Given the description of an element on the screen output the (x, y) to click on. 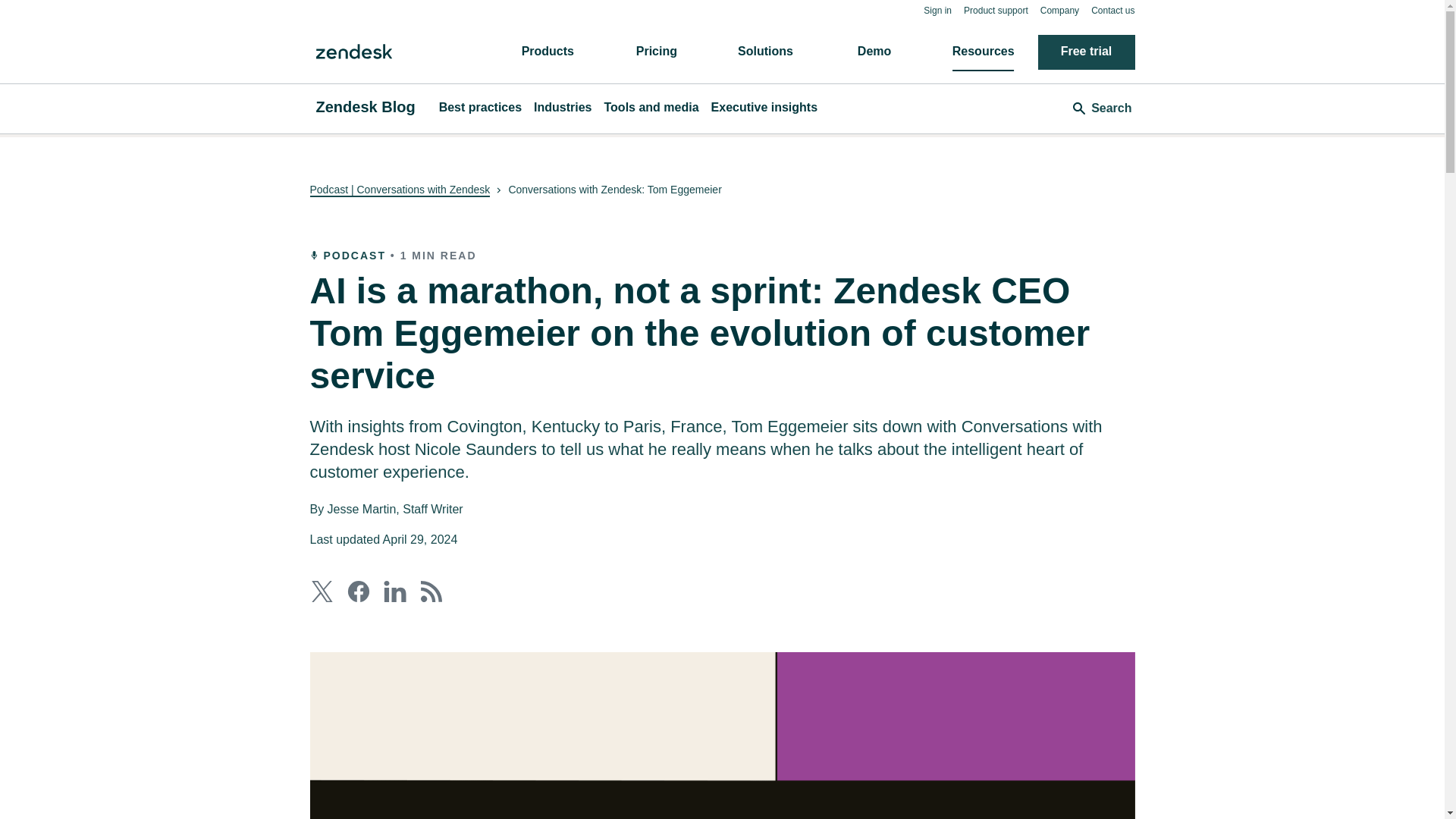
Company (1059, 9)
Product support (995, 9)
Sign in (937, 9)
Contact us (1112, 9)
